Given the description of an element on the screen output the (x, y) to click on. 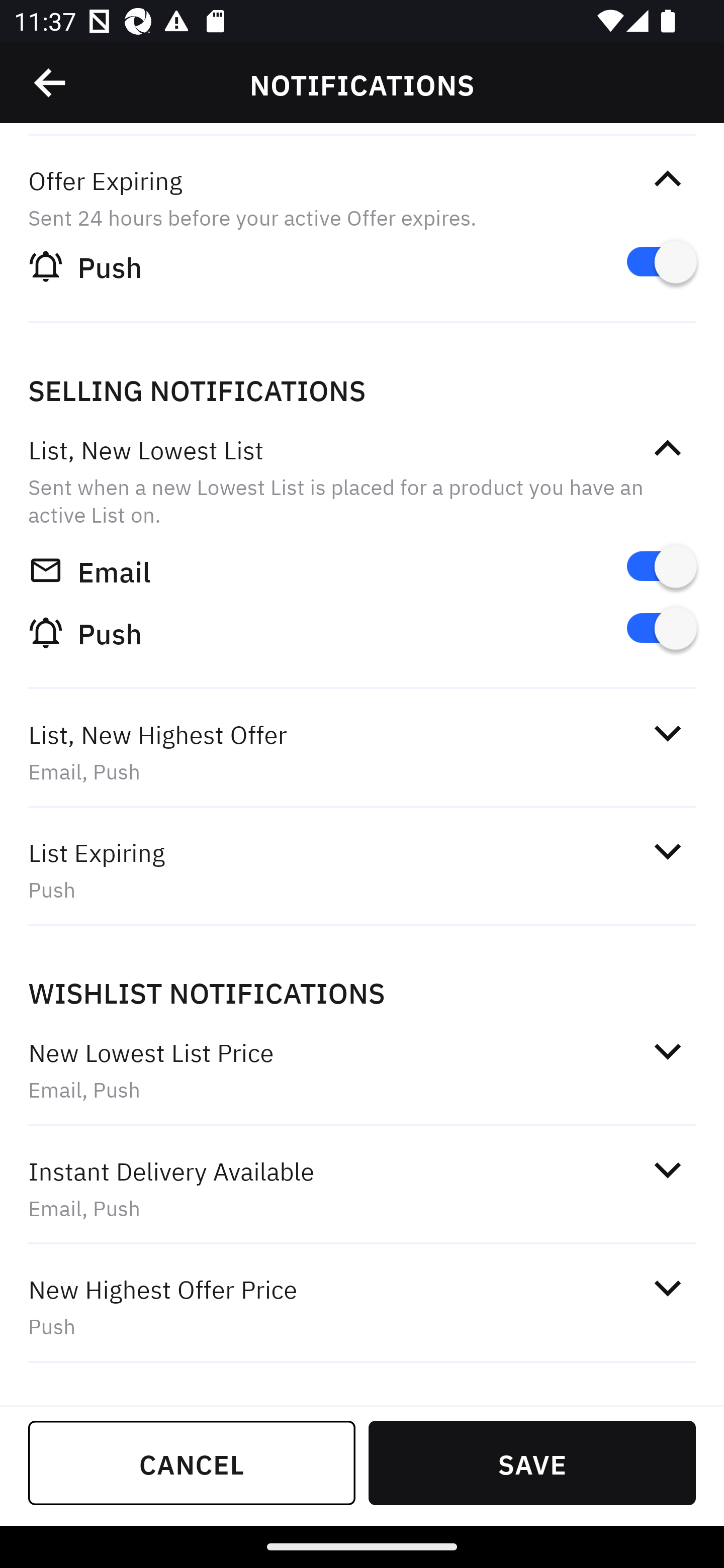
 (50, 83)
 (667, 179)
 (667, 448)
List, New Highest Offer  Email, Push (361, 752)
 (667, 732)
List Expiring  Push (361, 869)
 (667, 851)
New Lowest List Price  Email, Push (361, 1070)
 (667, 1051)
Instant Delivery Available  Email, Push (361, 1189)
 (667, 1170)
New Highest Offer Price  Push (361, 1306)
 (667, 1287)
CANCEL (191, 1462)
SAVE (531, 1462)
